Given the description of an element on the screen output the (x, y) to click on. 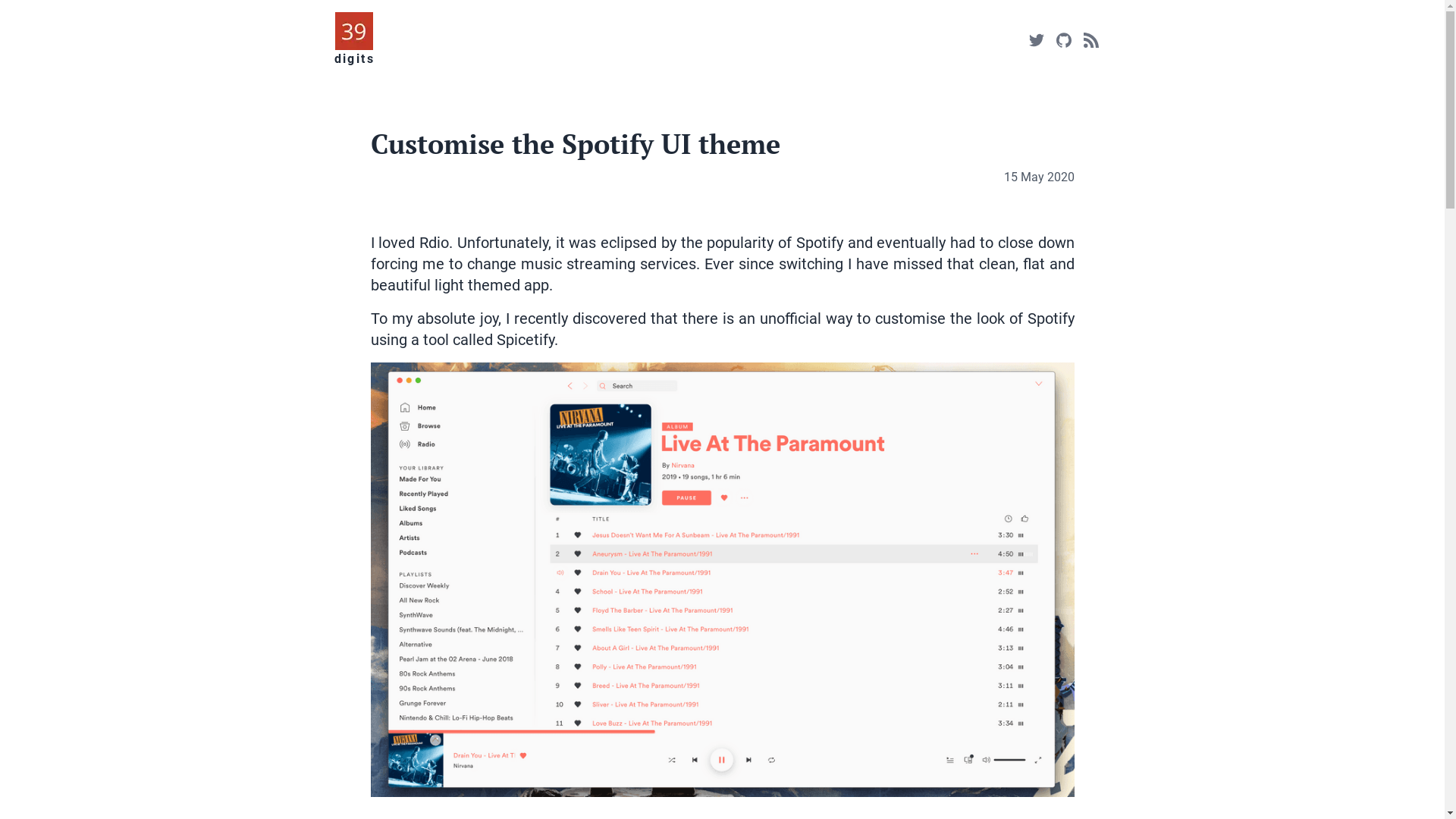
Spotify with Spicetify's default light theme Element type: hover (721, 579)
digits Element type: text (353, 58)
